Given the description of an element on the screen output the (x, y) to click on. 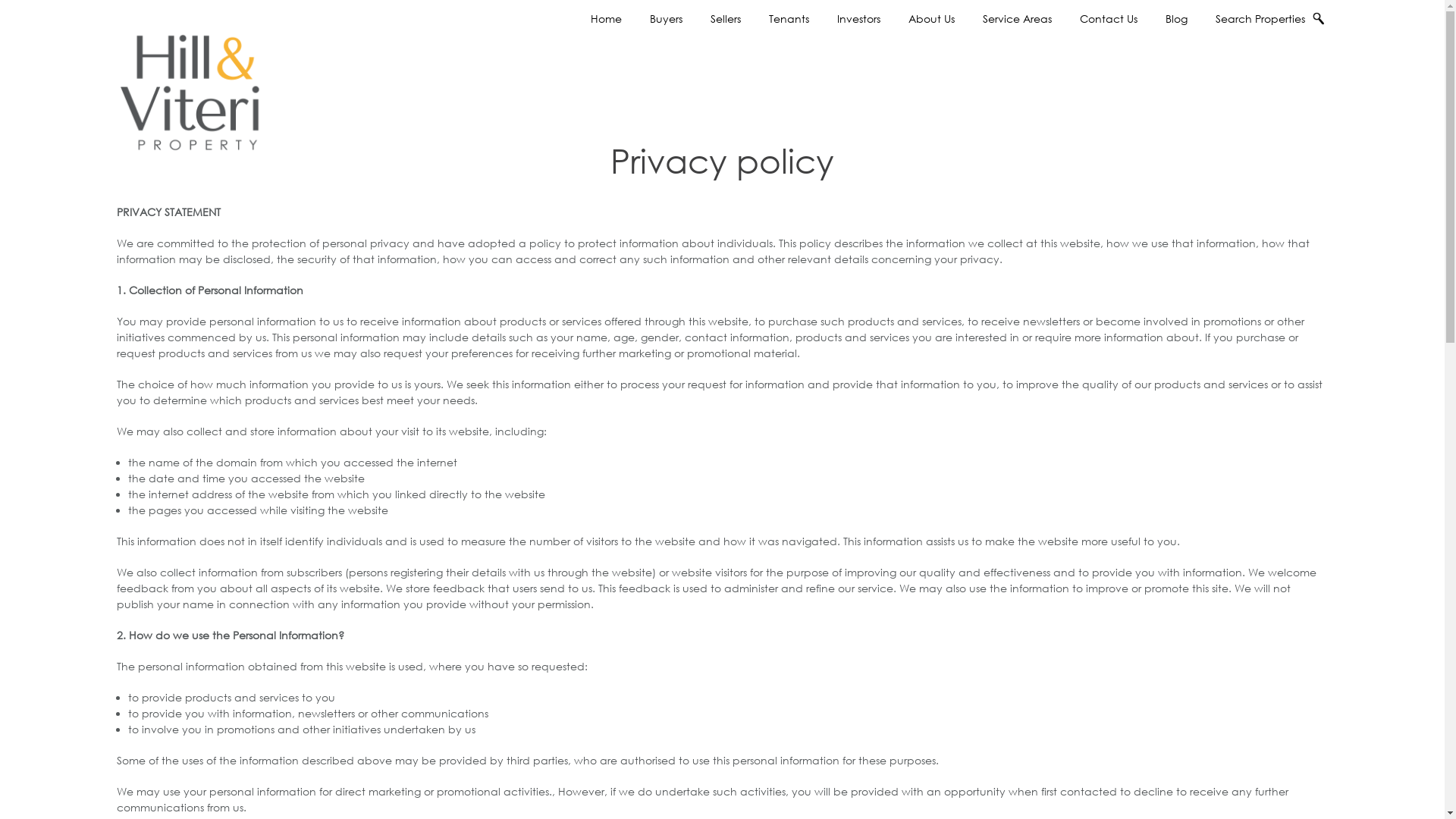
Search Properties Element type: text (1264, 18)
About Us Element type: text (931, 18)
Investors Element type: text (858, 18)
Service Areas Element type: text (1017, 18)
Home Element type: text (606, 18)
Hill & Viteri Property Element type: hover (194, 77)
Buyers Element type: text (666, 18)
Tenants Element type: text (788, 18)
Search Element type: text (920, 77)
Blog Element type: text (1176, 18)
Contact Us Element type: text (1108, 18)
Sellers Element type: text (725, 18)
